Given the description of an element on the screen output the (x, y) to click on. 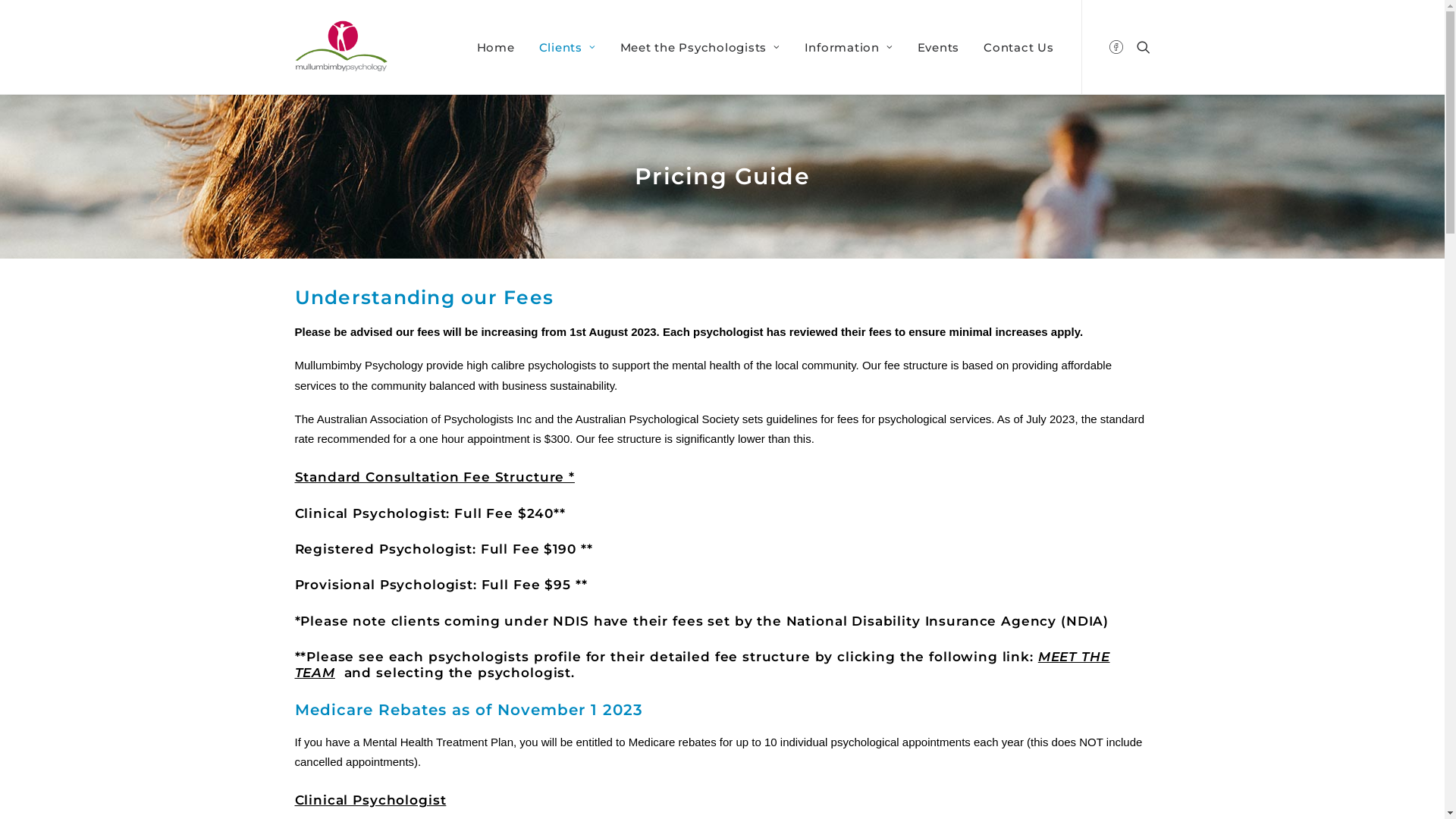
MEET THE TEAM Element type: text (701, 664)
Contact Us Element type: text (1013, 47)
Meet the Psychologists Element type: text (699, 47)
Information Element type: text (848, 47)
Home Element type: text (495, 47)
Events Element type: text (938, 47)
Clients Element type: text (567, 47)
